Given the description of an element on the screen output the (x, y) to click on. 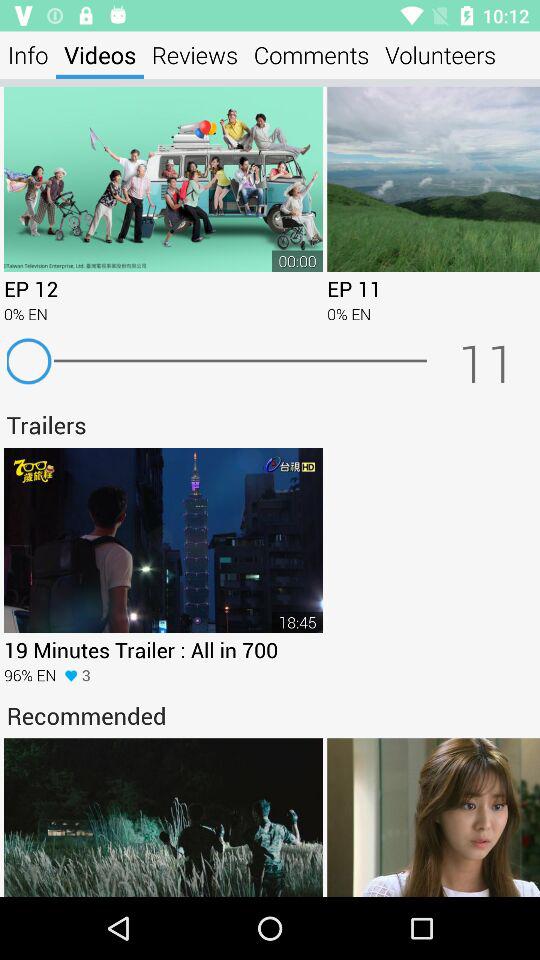
swipe to the info (28, 54)
